Given the description of an element on the screen output the (x, y) to click on. 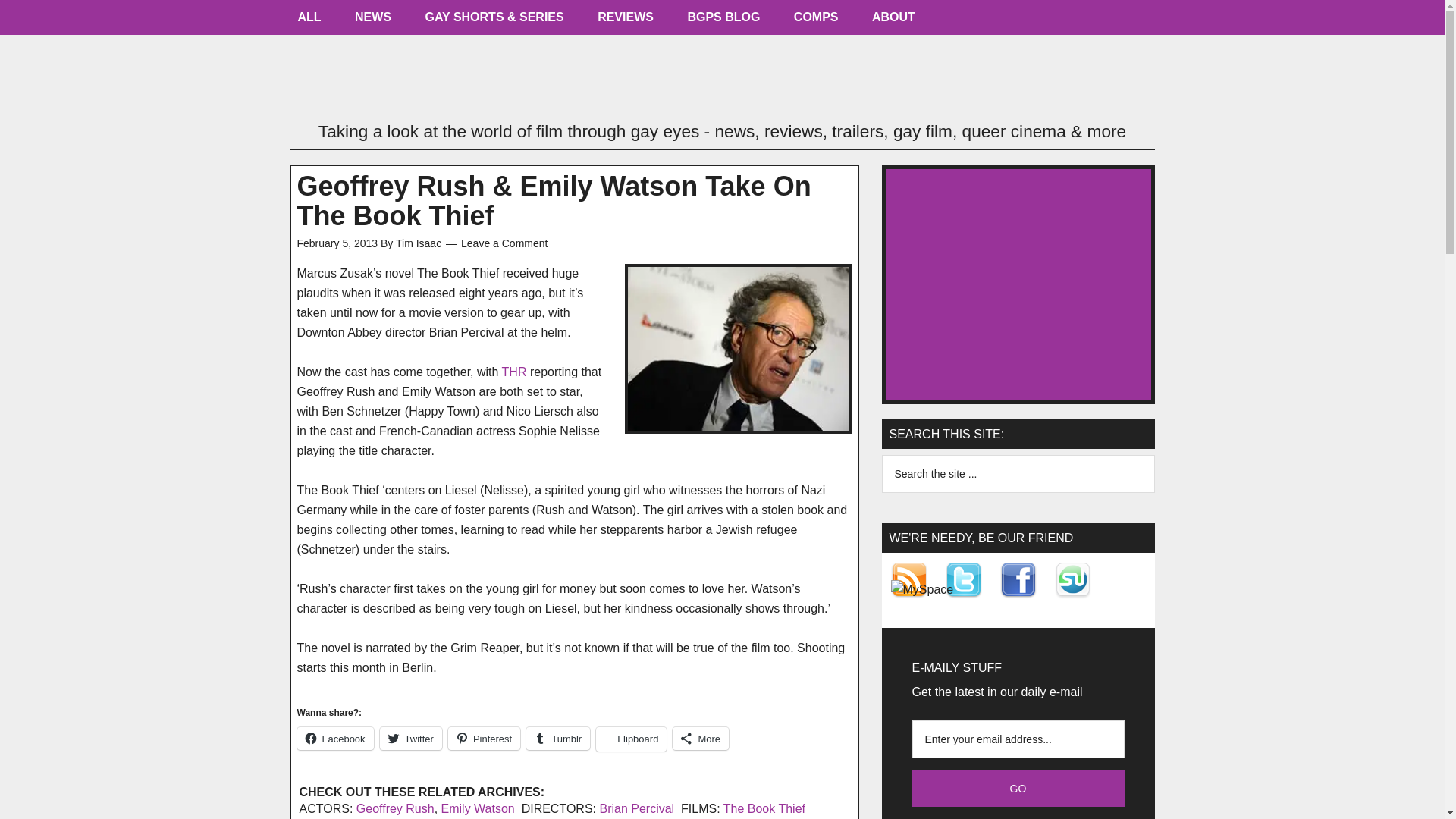
Click to share on Facebook (335, 738)
bgps-says (722, 21)
Emily Watson (478, 808)
NEWS (372, 21)
The Book Thief (764, 808)
Brian Percival (636, 808)
Leave a Comment (504, 243)
Tim Isaac (418, 243)
Click to share on Twitter (411, 738)
